Given the description of an element on the screen output the (x, y) to click on. 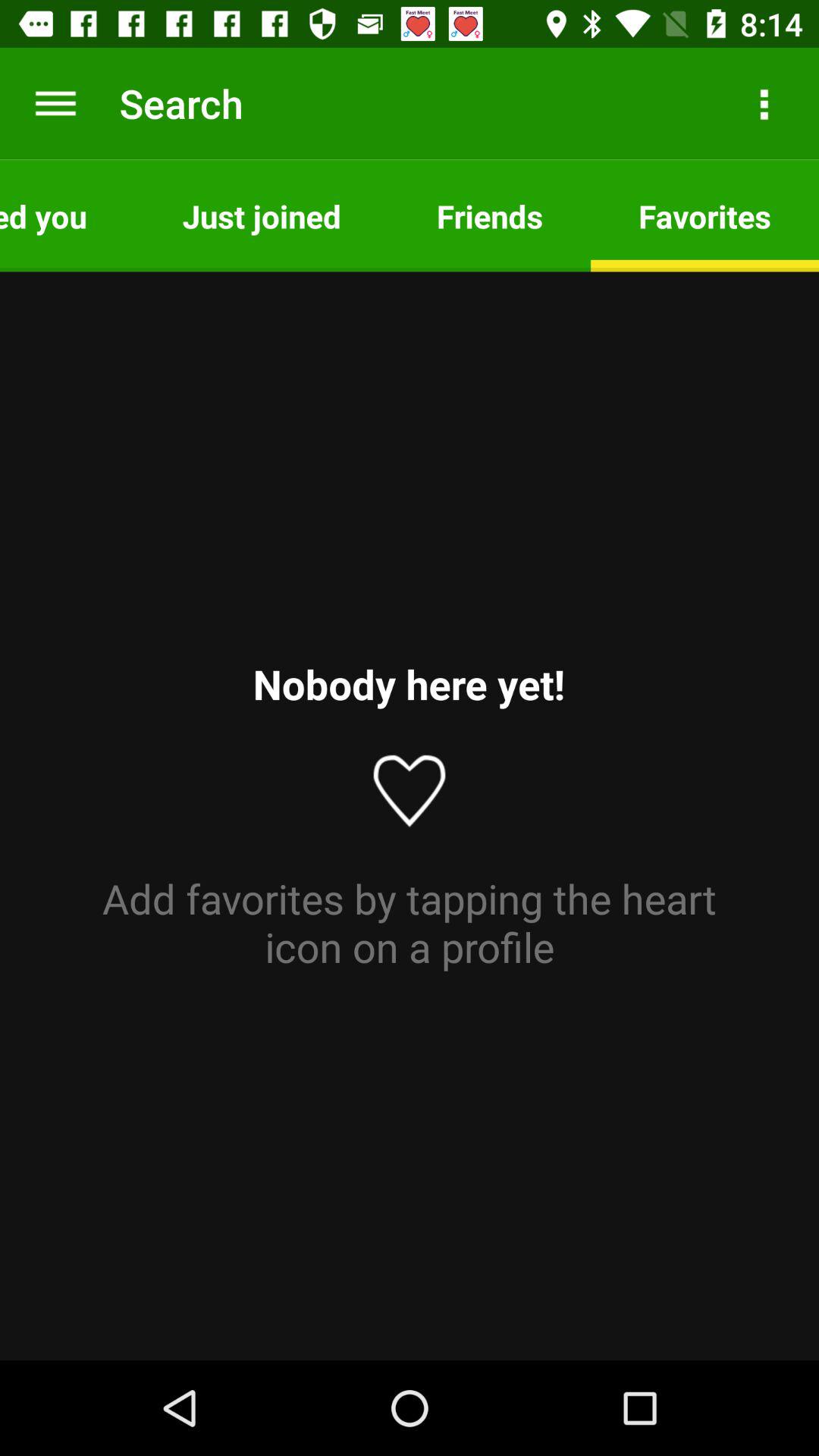
select item next to the just joined item (67, 215)
